Given the description of an element on the screen output the (x, y) to click on. 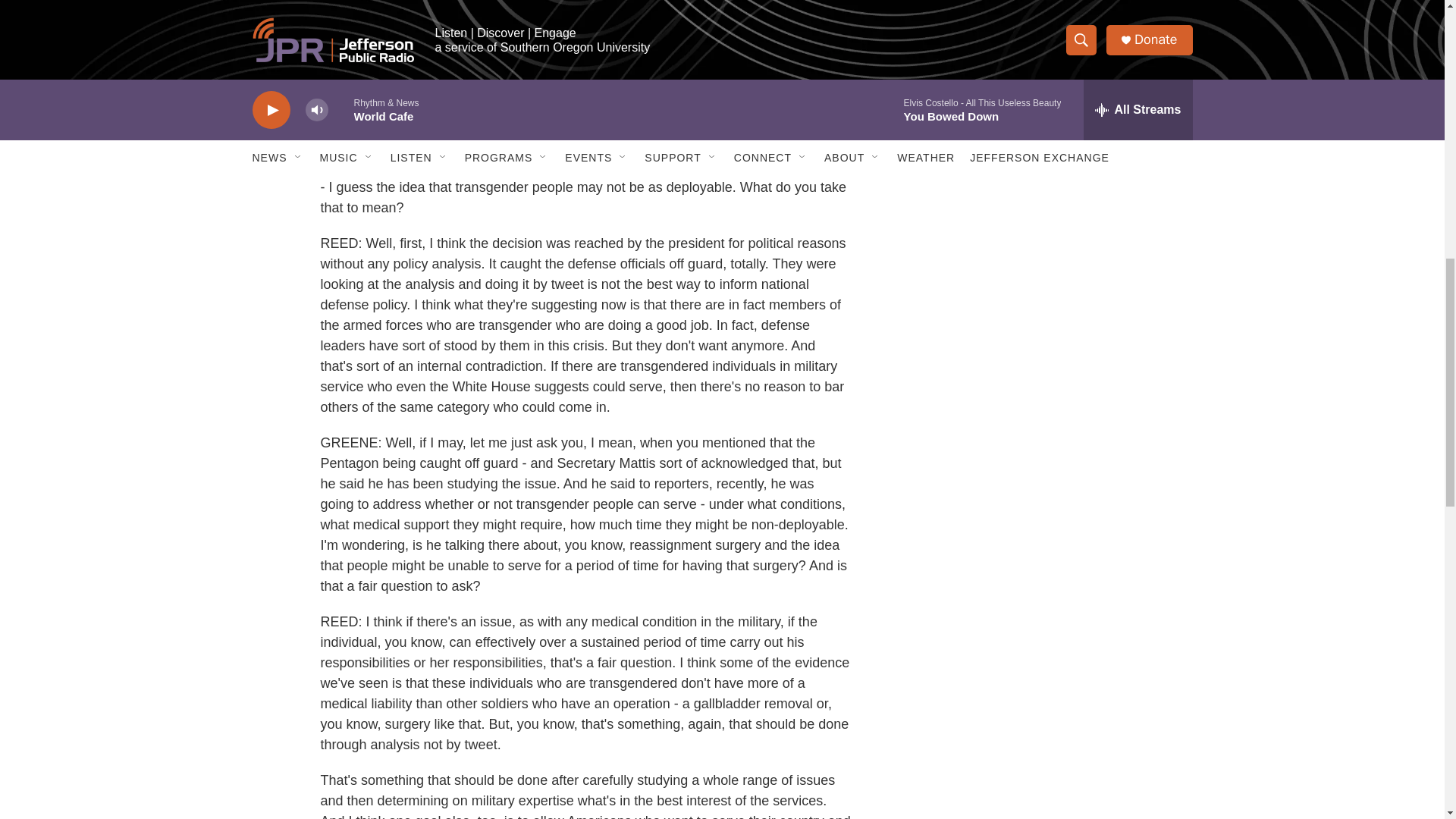
3rd party ad content (1062, 16)
